Given the description of an element on the screen output the (x, y) to click on. 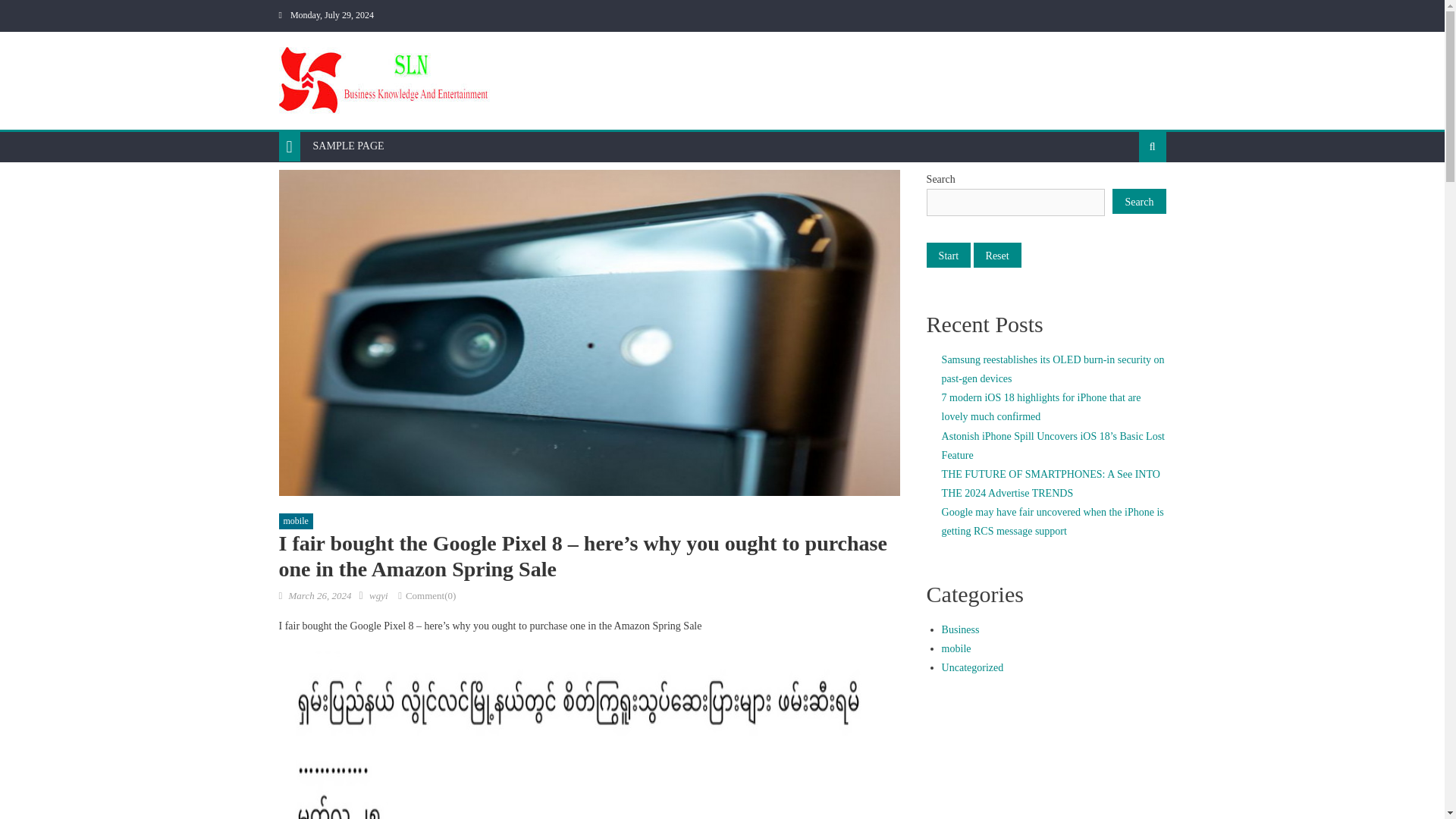
Reset (998, 254)
March 26, 2024 (319, 595)
Search (1128, 195)
SAMPLE PAGE (348, 145)
Search (1139, 201)
wgyi (378, 595)
Start (948, 254)
mobile (296, 521)
